Given the description of an element on the screen output the (x, y) to click on. 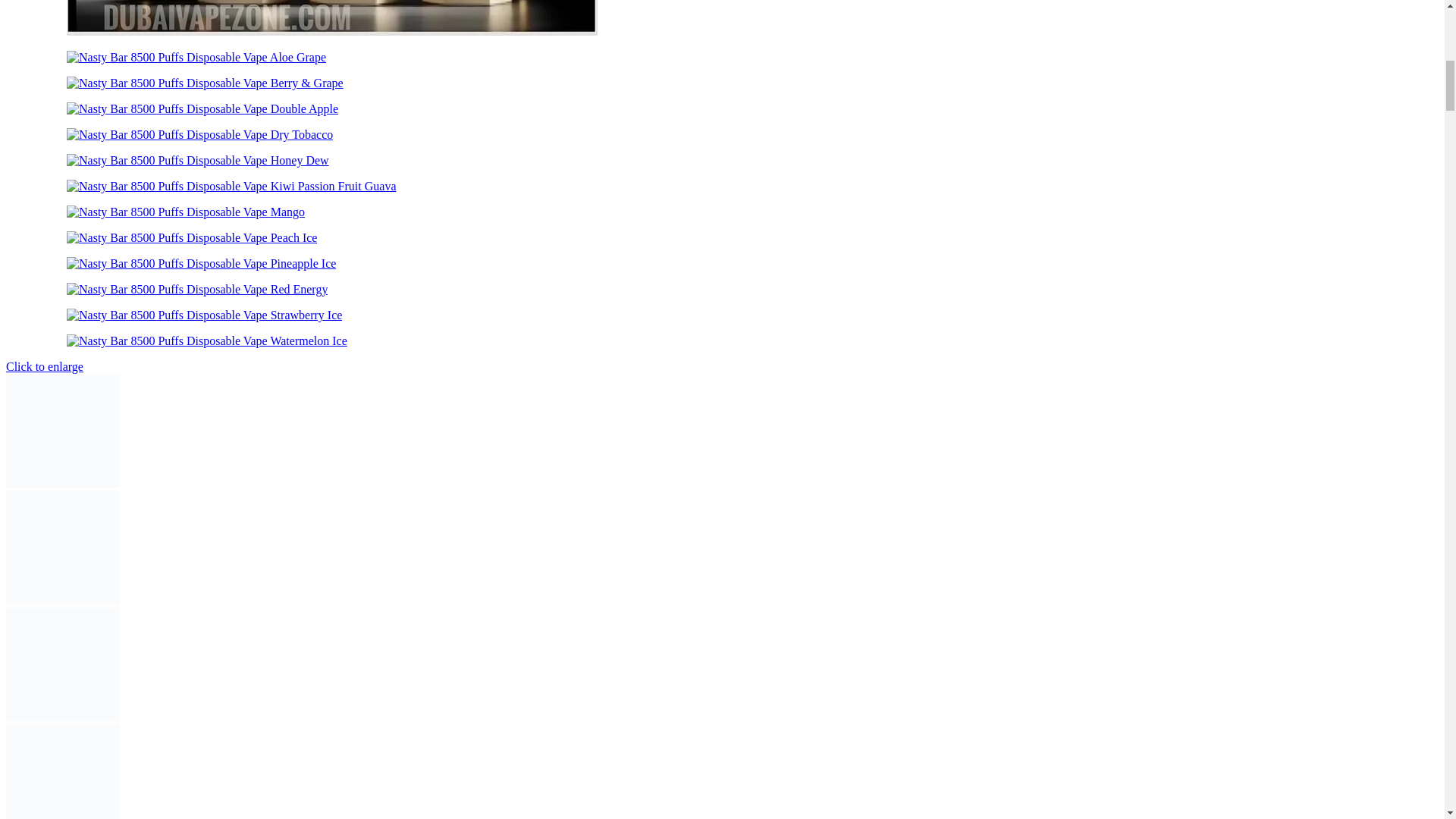
Nasty Bar 8500 Puffs Disposable Vape Dry Tobacco (199, 134)
Nasty Bar 8500 Puffs Disposable Vape Mango (185, 212)
Nasty Bar 8500 Puffs Disposable Vape Peach Ice (191, 237)
Nasty Bar 8500 Puffs Disposable Vape Aloe Grape (196, 57)
Click to enlarge (43, 366)
Nasty Bar 8500 Puffs Disposable Vape (331, 18)
Nasty Bar 8500 Puffs Disposable Vape Honey Dew (197, 160)
Nasty Bar 8500 Puffs Disposable Vape Pineapple Ice (201, 264)
Nasty Bar 8500 Puffs Disposable Vape Double Apple (201, 109)
